Given the description of an element on the screen output the (x, y) to click on. 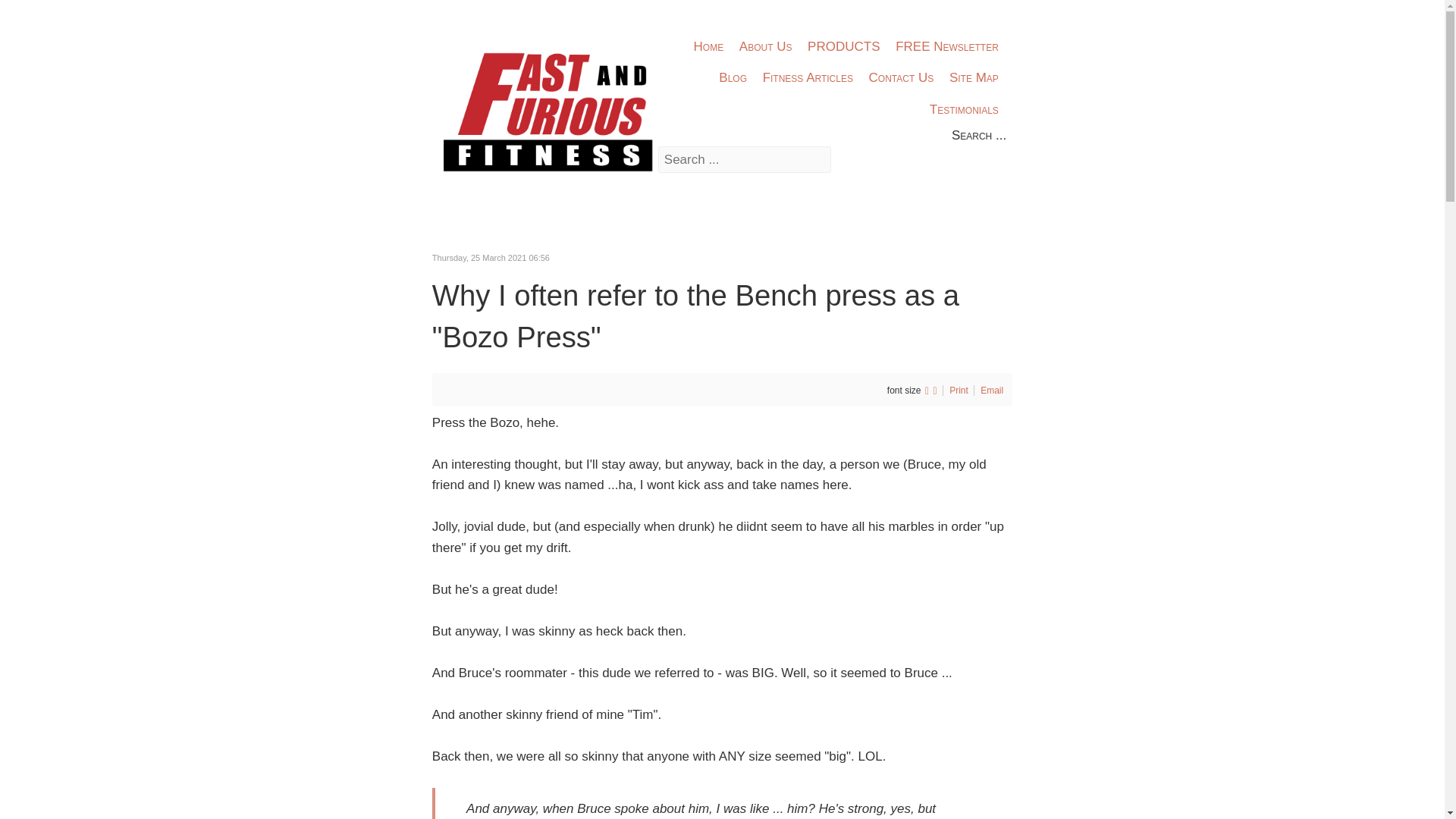
Email (991, 389)
Fitness Articles (808, 78)
Blog (732, 78)
FREE Newsletter (946, 46)
Home (708, 46)
PRODUCTS (843, 46)
Site Map (973, 78)
Contact Us (901, 78)
Print (960, 389)
About Us (764, 46)
